Given the description of an element on the screen output the (x, y) to click on. 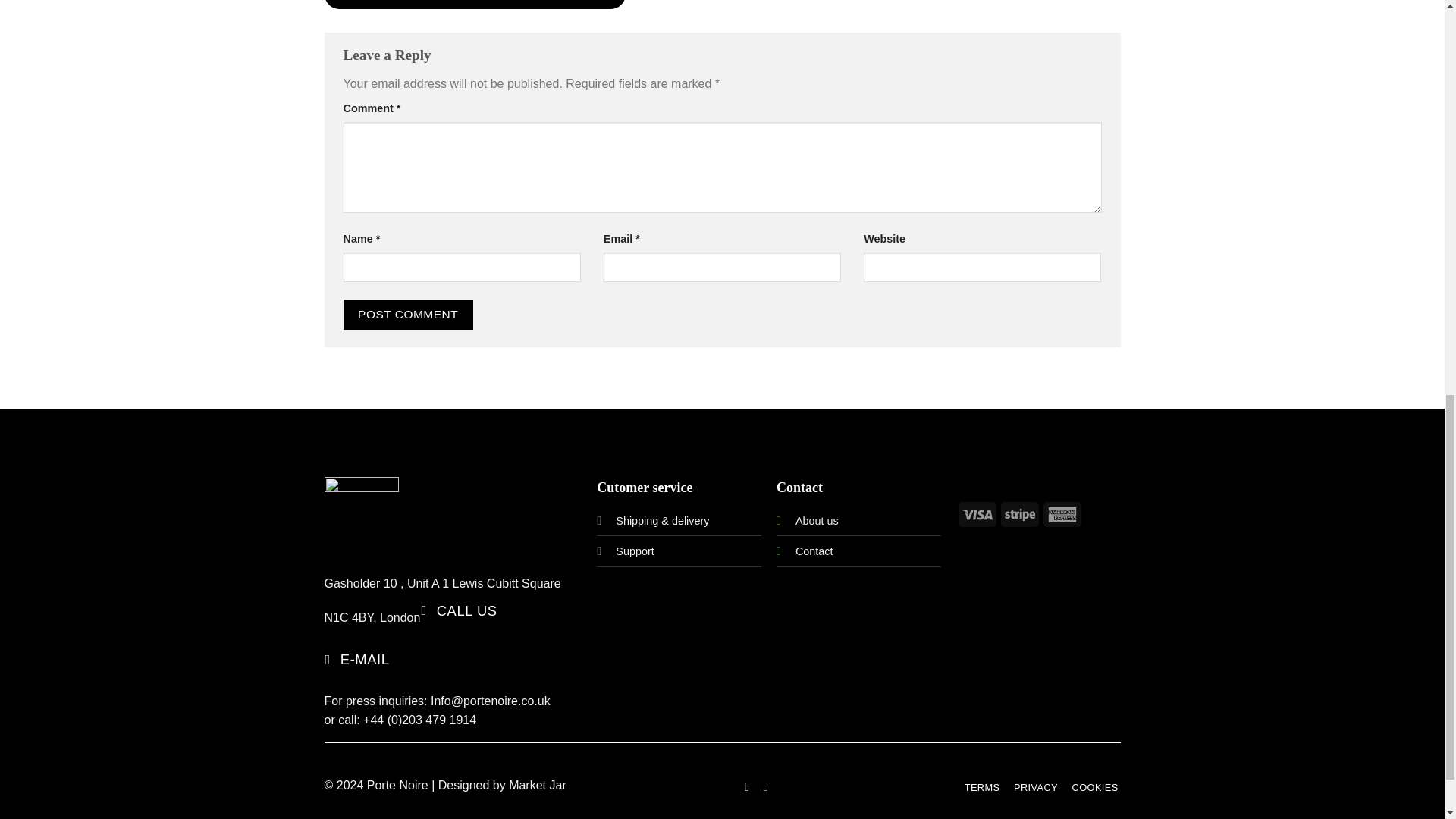
Follow on Facebook (746, 786)
Follow on Instagram (765, 786)
Support (634, 551)
CALL US (459, 610)
Post Comment (406, 314)
VIEW OUR PRIVATE TESTING PRESENTATION (475, 4)
E-MAIL (358, 659)
Post Comment (406, 314)
